Given the description of an element on the screen output the (x, y) to click on. 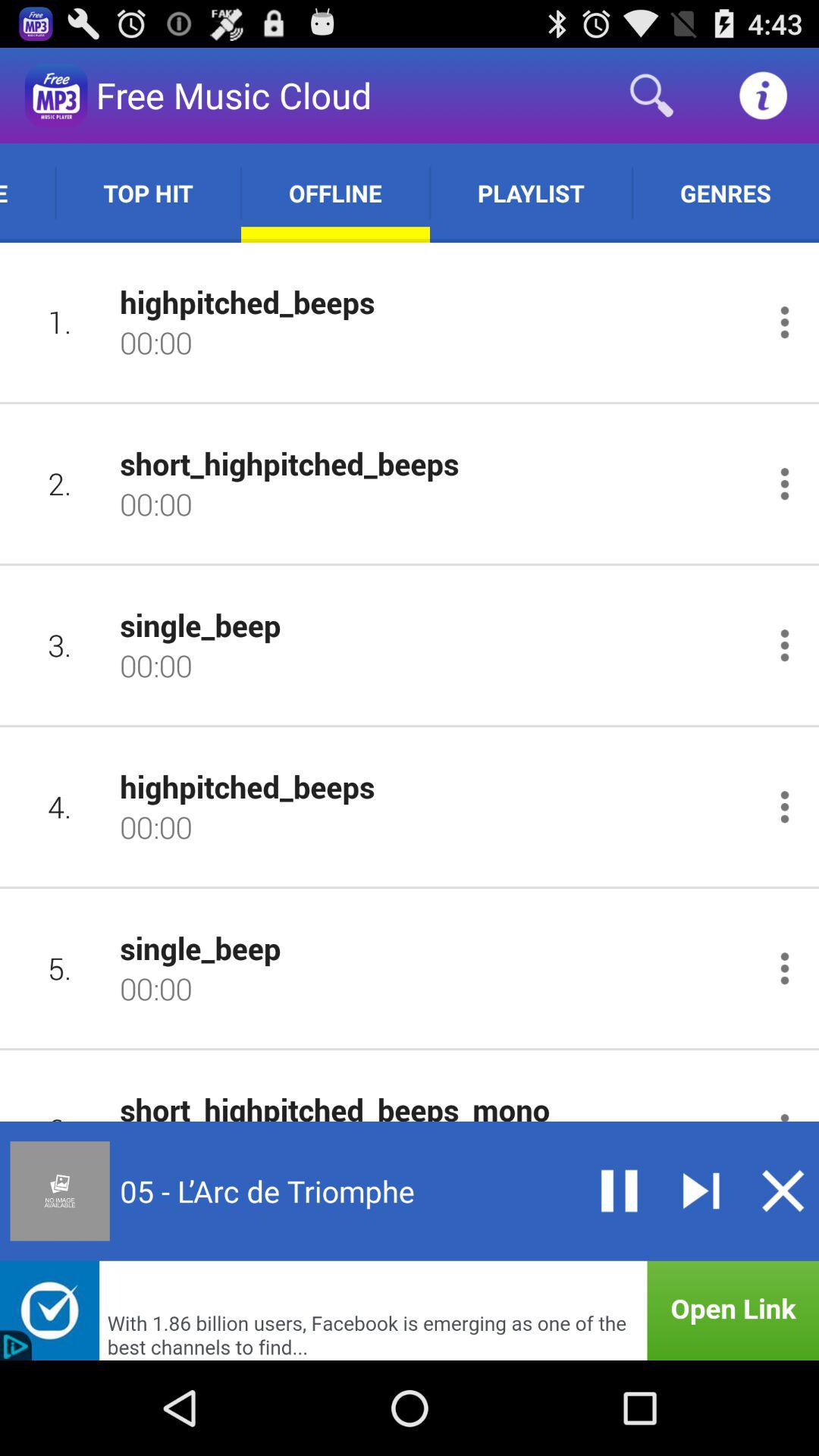
flip to the offline icon (335, 192)
